Given the description of an element on the screen output the (x, y) to click on. 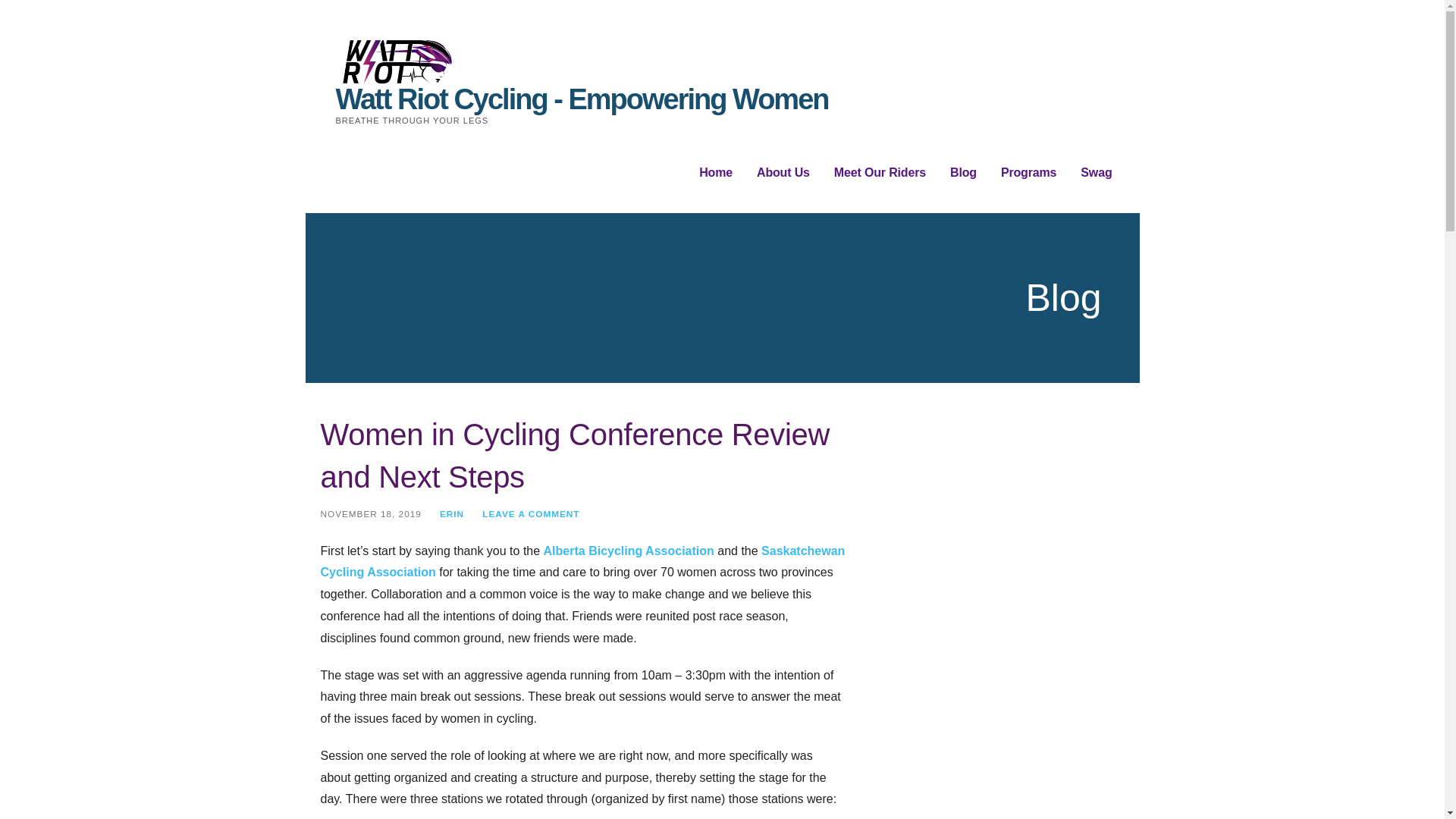
Meet Our Riders (880, 173)
Watt Riot Cycling - Empowering Women (581, 99)
About Us (783, 173)
ERIN (451, 513)
Home (715, 173)
Posts by Erin (451, 513)
LEAVE A COMMENT (530, 513)
Programs (1029, 173)
Swag (1096, 173)
